Given the description of an element on the screen output the (x, y) to click on. 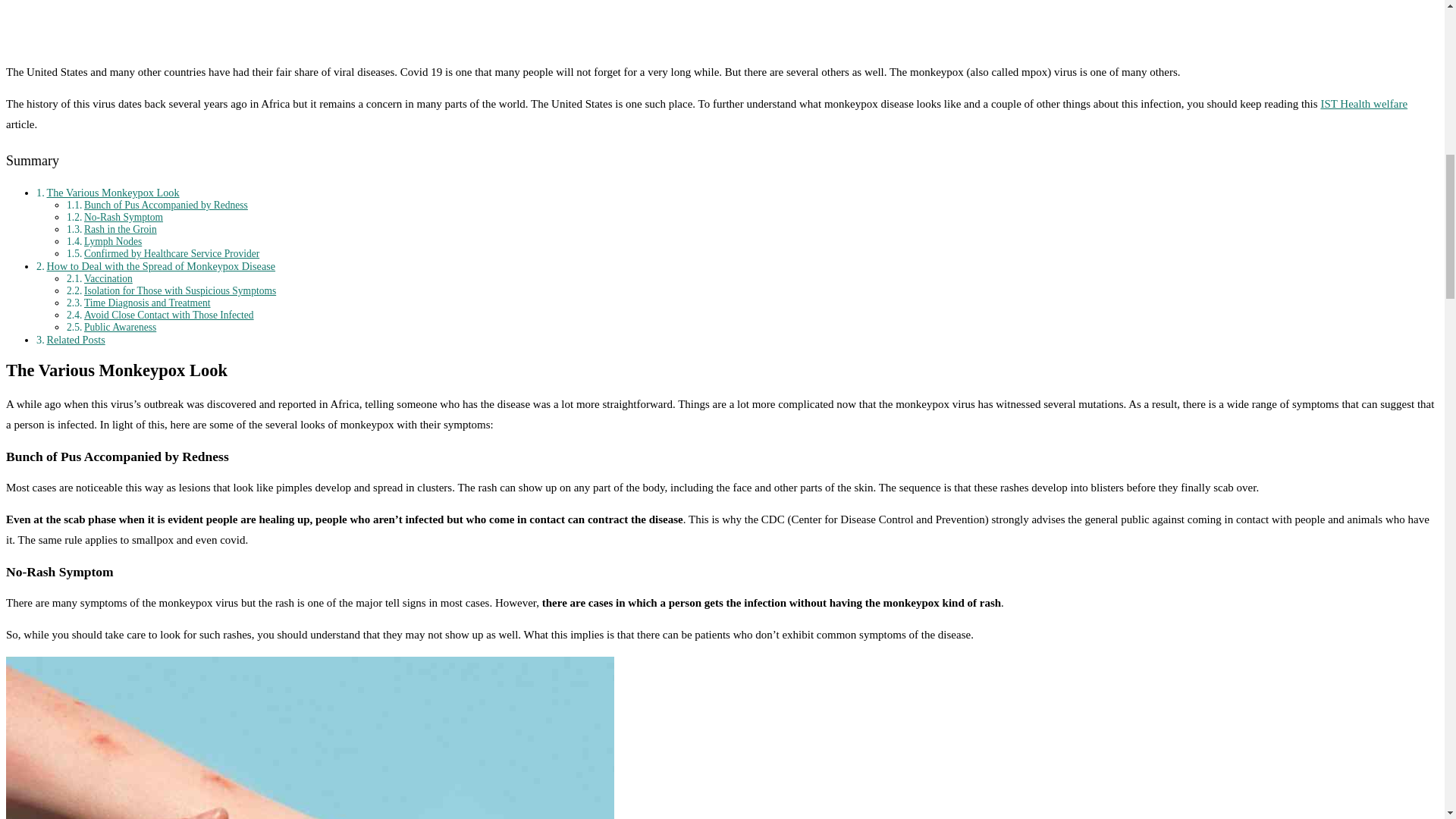
Vaccination (108, 278)
Related Posts (75, 339)
Related Posts (75, 339)
Confirmed by Healthcare Service Provider (171, 253)
Time Diagnosis and Treatment (147, 302)
How to Deal with the Spread of Monkeypox Disease (161, 265)
Lymph Nodes (112, 241)
Time Diagnosis and Treatment (147, 302)
IST Health welfare (1363, 102)
Avoid Close Contact with Those Infected (168, 315)
Avoid Close Contact with Those Infected (168, 315)
Bunch of Pus Accompanied by Redness (165, 204)
Rash in the Groin (120, 229)
No-Rash Symptom (123, 216)
The Various Monkeypox Look (112, 192)
